Given the description of an element on the screen output the (x, y) to click on. 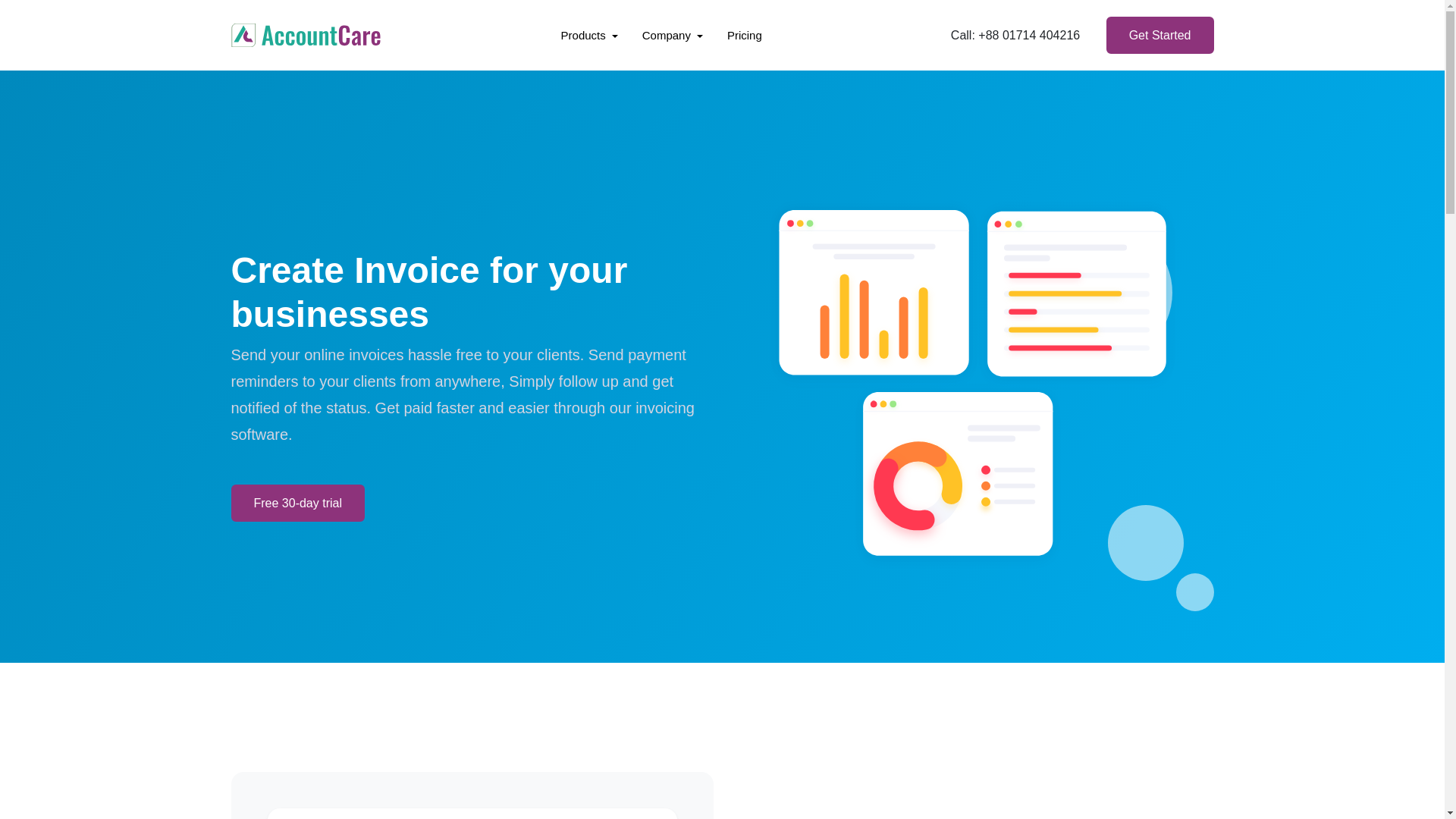
Company (672, 35)
Products (589, 35)
Get Started (1160, 35)
Pricing (744, 35)
Free 30-day trial (297, 502)
